Given the description of an element on the screen output the (x, y) to click on. 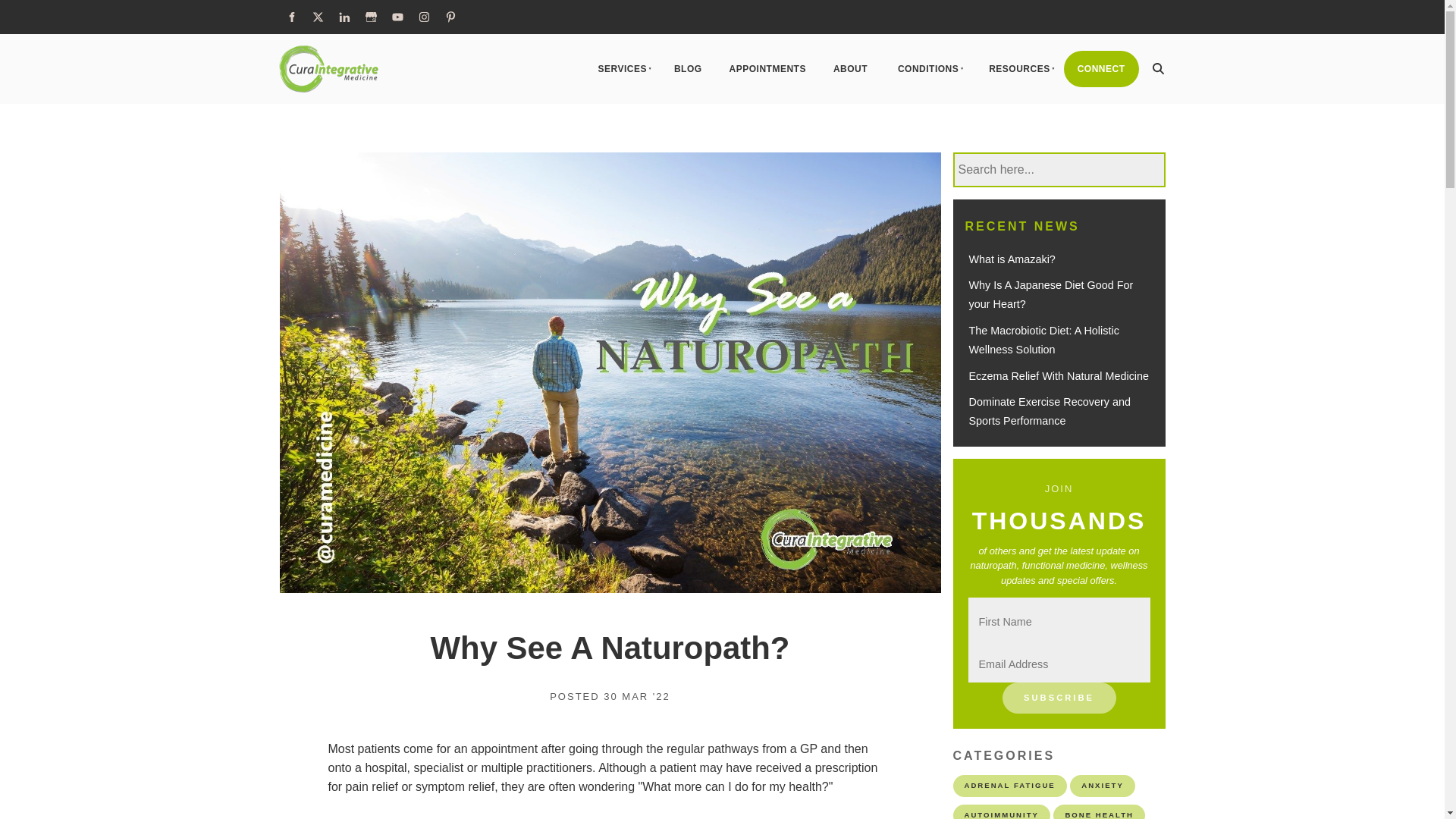
Pinterest (450, 16)
CONDITIONS (926, 68)
LinkedIn (343, 16)
Facebook (291, 16)
BLOG (688, 68)
Google My Business (370, 16)
Instagram (422, 16)
APPOINTMENTS (767, 68)
ABOUT (849, 68)
SERVICES (620, 68)
Youtube (397, 16)
